Given the description of an element on the screen output the (x, y) to click on. 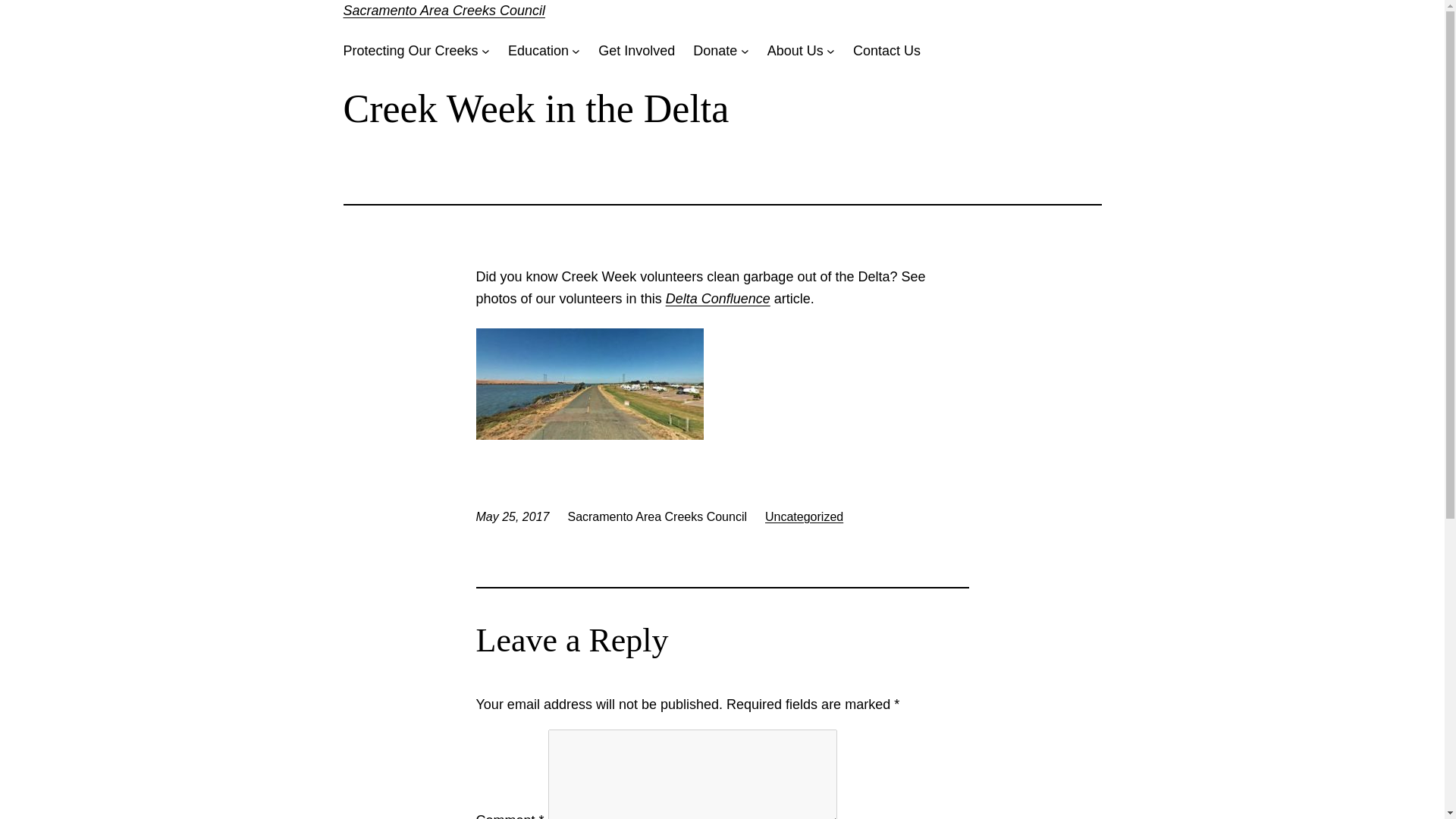
Contact Us (886, 51)
Education (538, 51)
Protecting Our Creeks (409, 51)
Delta Confluence (717, 298)
Sacramento Area Creeks Council (443, 10)
Uncategorized (804, 516)
About Us (795, 51)
Donate (714, 51)
Get Involved (636, 51)
